Given the description of an element on the screen output the (x, y) to click on. 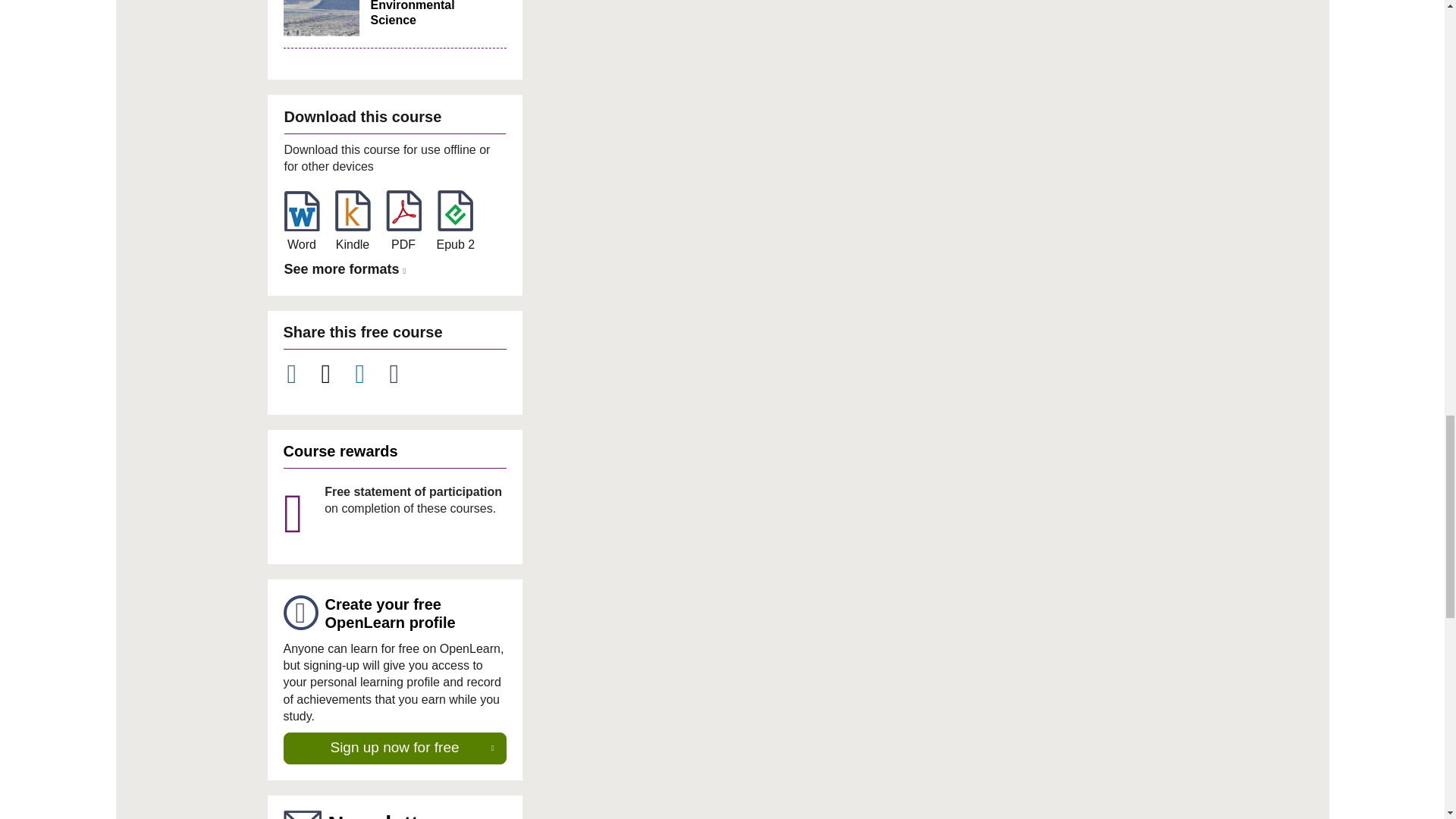
Share on Twitter (334, 374)
Share on Facebook (299, 374)
See more formats (347, 269)
Sign up now for free (394, 748)
Share on LinkedIn (368, 374)
Share via Email (403, 374)
